Given the description of an element on the screen output the (x, y) to click on. 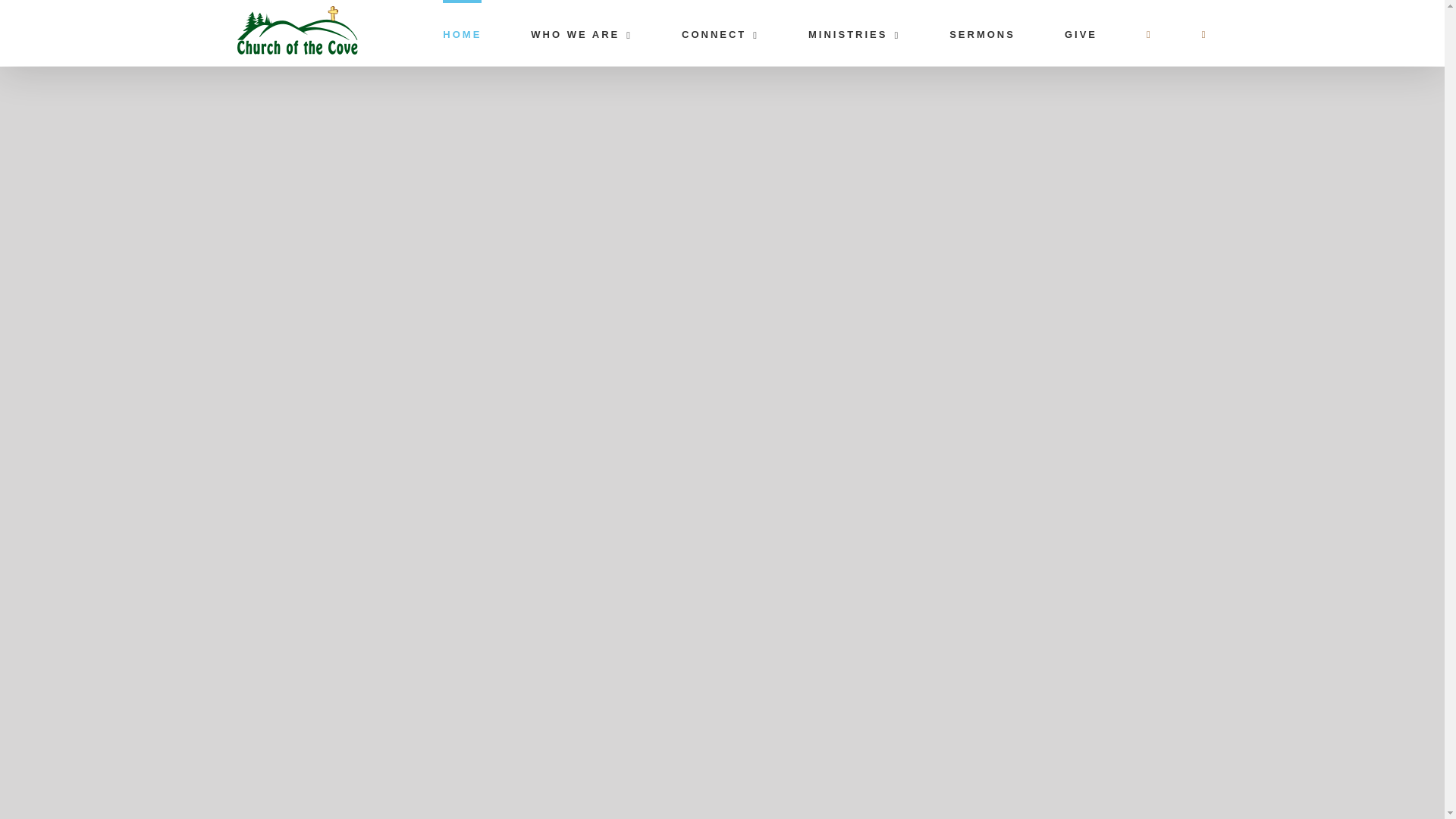
SERMONS (981, 33)
CONNECT (719, 33)
WHO WE ARE (581, 33)
MINISTRIES (853, 33)
